Given the description of an element on the screen output the (x, y) to click on. 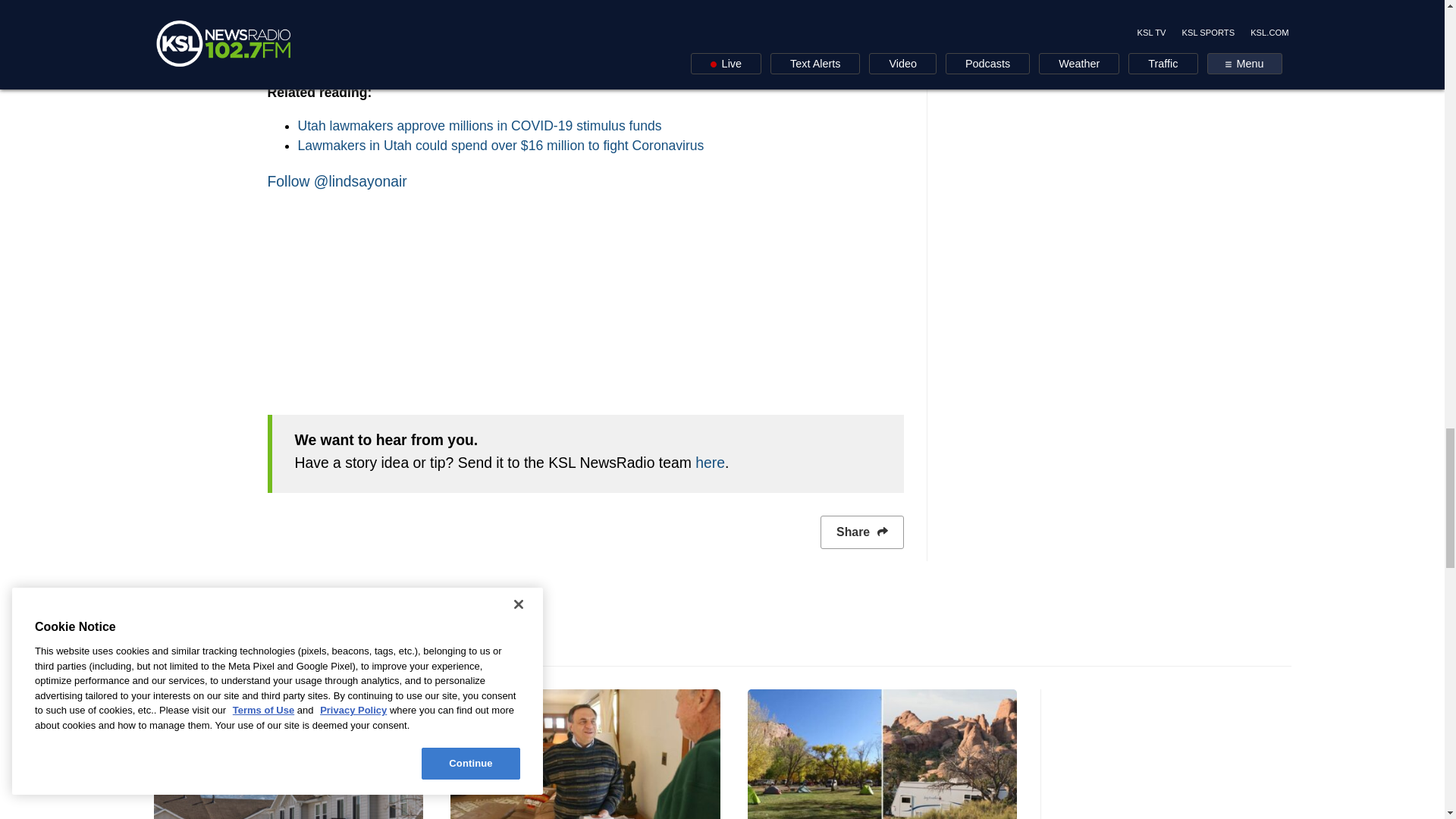
Signup Widget Embed (584, 297)
